Given the description of an element on the screen output the (x, y) to click on. 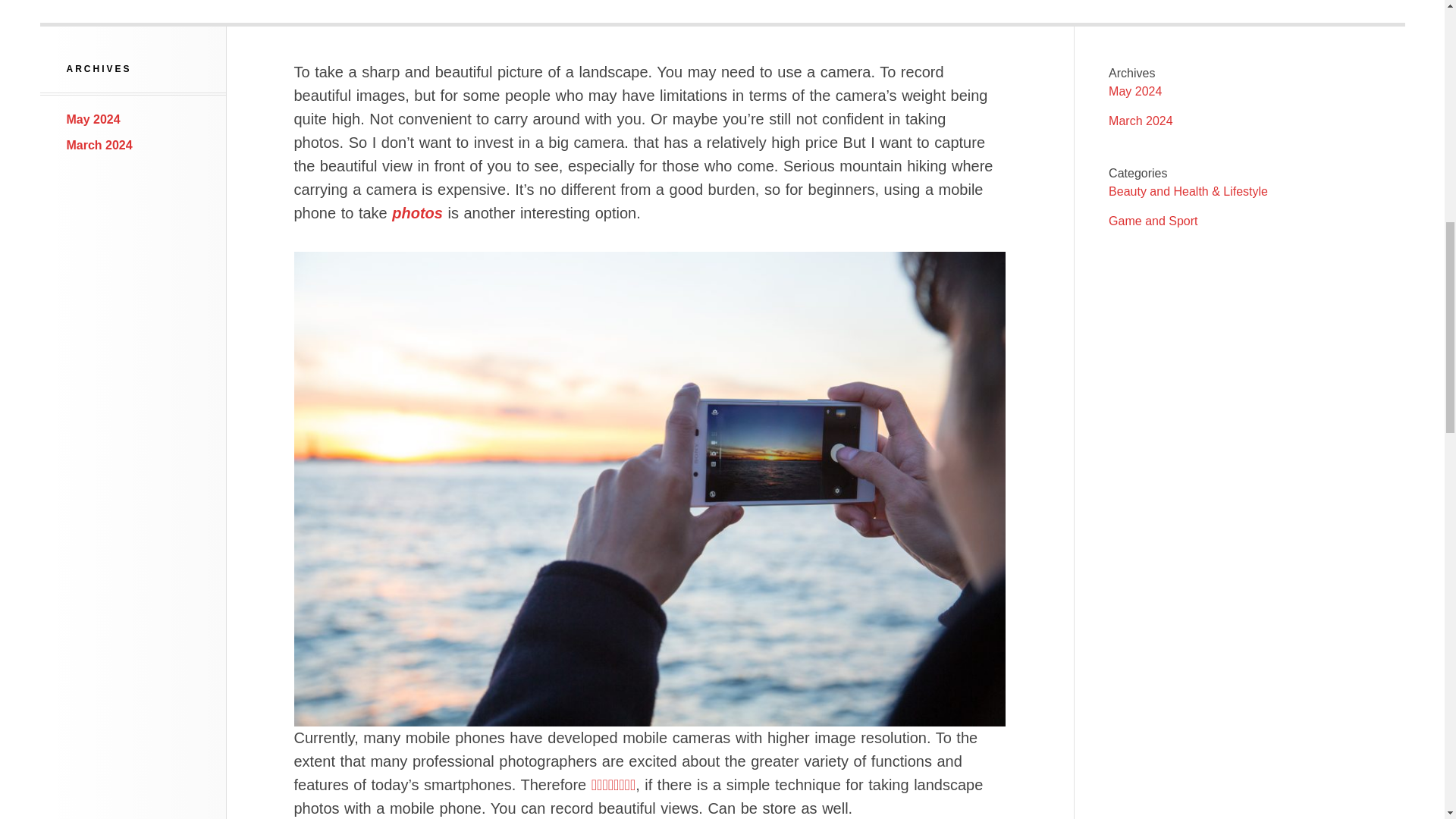
photos (416, 212)
May 2024 (93, 119)
March 2024 (1140, 120)
Game and Sport (1152, 220)
March 2024 (99, 144)
May 2024 (1134, 91)
